Given the description of an element on the screen output the (x, y) to click on. 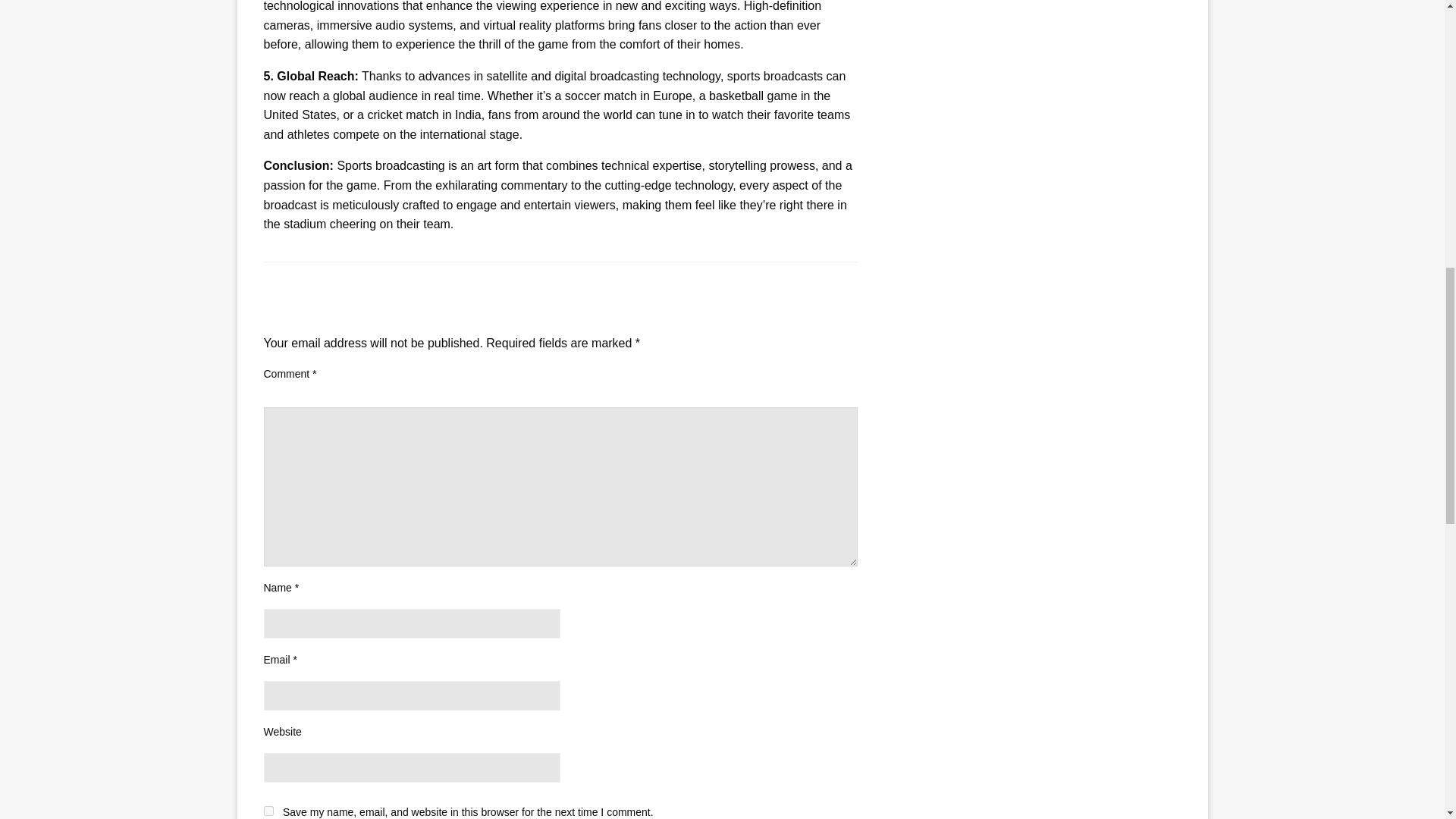
yes (268, 810)
